Given the description of an element on the screen output the (x, y) to click on. 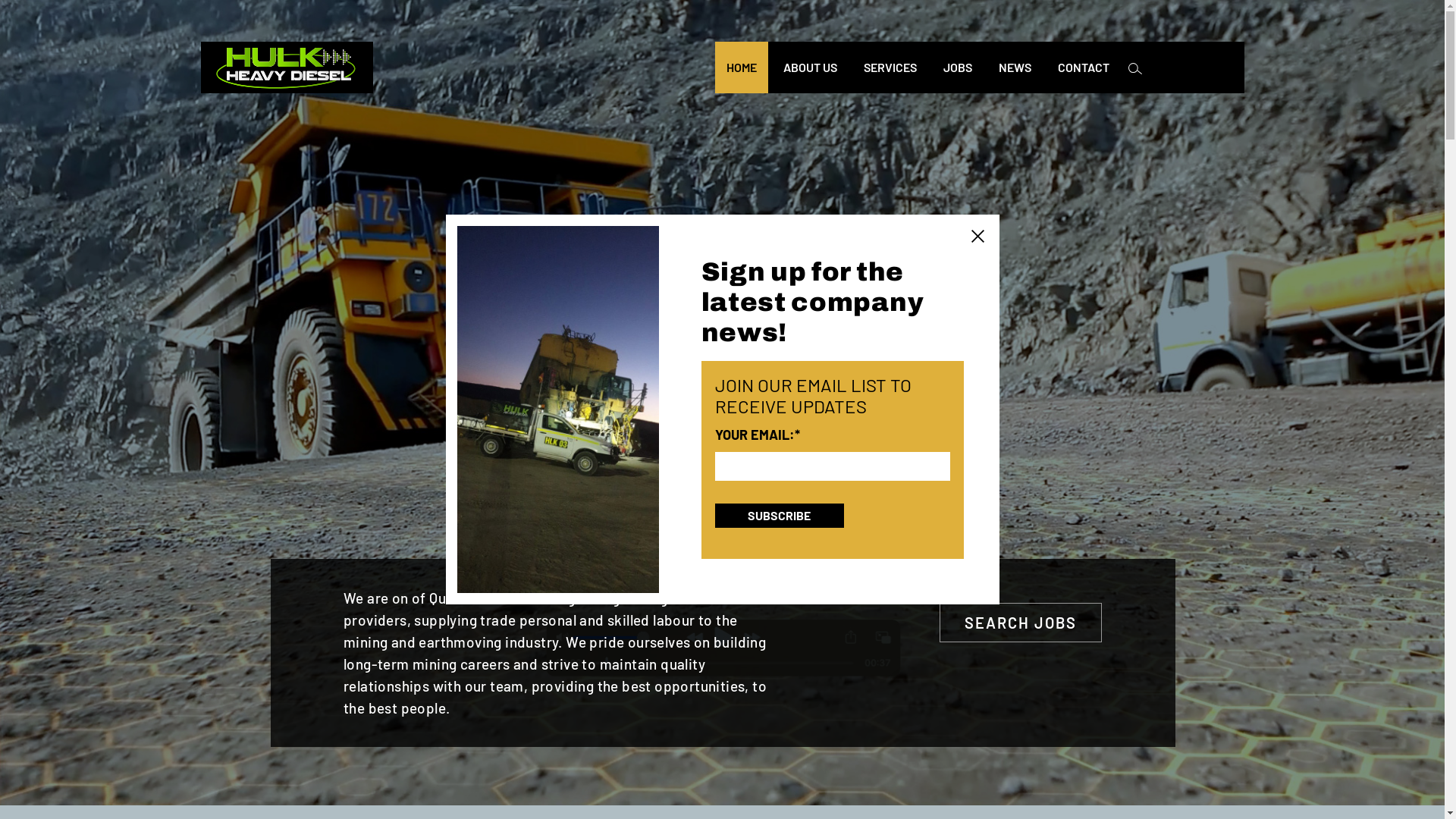
HOME Element type: text (740, 67)
X Element type: text (976, 235)
ABOUT US Element type: text (809, 67)
SEARCH JOBS Element type: text (1020, 622)
CONTACT Element type: text (1083, 67)
Search Element type: text (1135, 69)
SERVICES Element type: text (890, 67)
NEWS Element type: text (1014, 67)
JOBS Element type: text (956, 67)
Hulk Heavy Diesel Element type: hover (286, 67)
SUBSCRIBE Element type: text (778, 515)
